Given the description of an element on the screen output the (x, y) to click on. 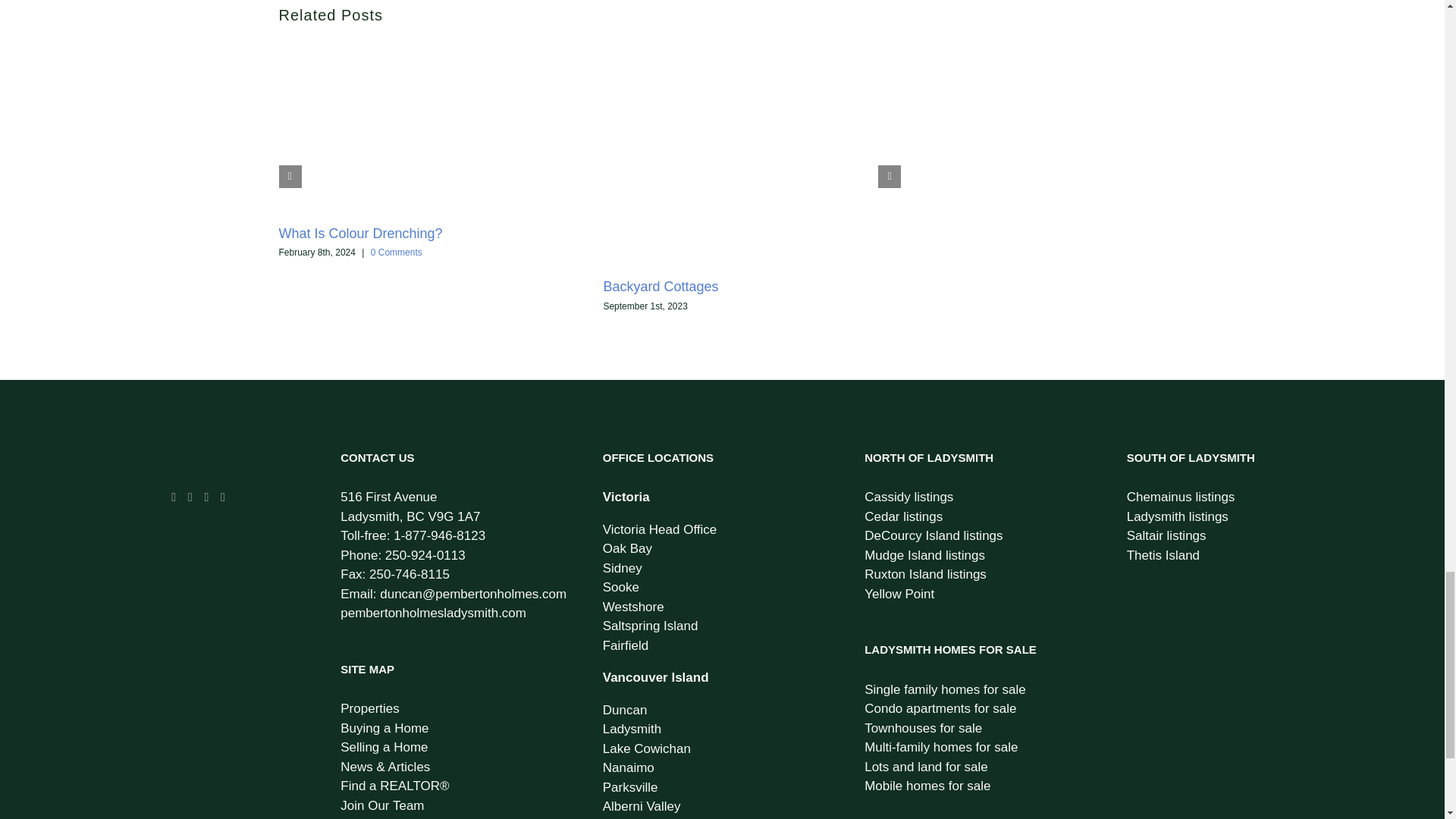
Backyard Cottages (659, 286)
What Is Colour Drenching? (360, 233)
0 Comments (396, 252)
Backyard Cottages (659, 286)
What is Colour Drenching? (360, 233)
